Given the description of an element on the screen output the (x, y) to click on. 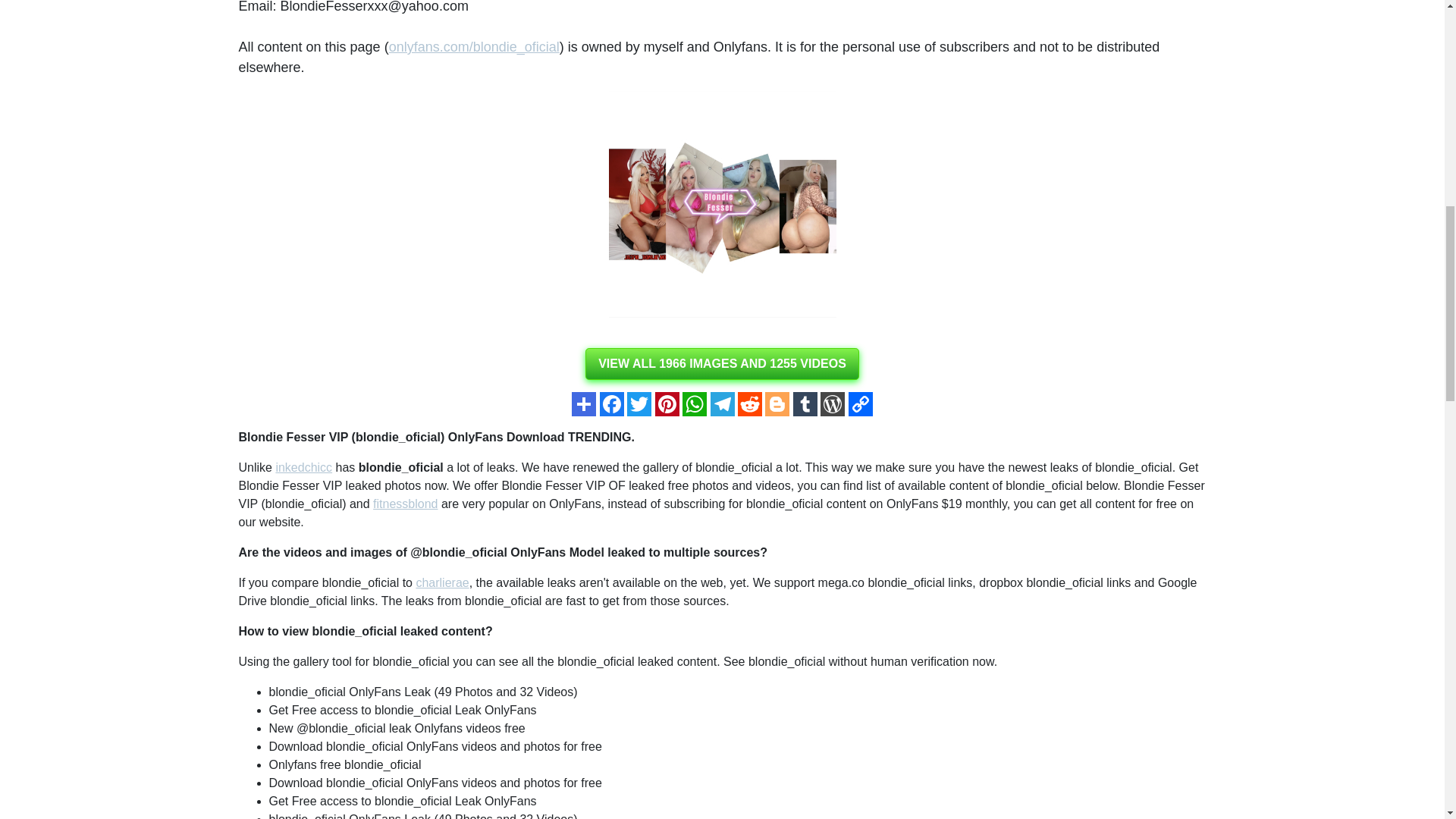
charlierae (441, 582)
VIEW ALL 1966 IMAGES AND 1255 VIDEOS (722, 364)
fitnessblond (405, 503)
inkedchicc (303, 467)
